Given the description of an element on the screen output the (x, y) to click on. 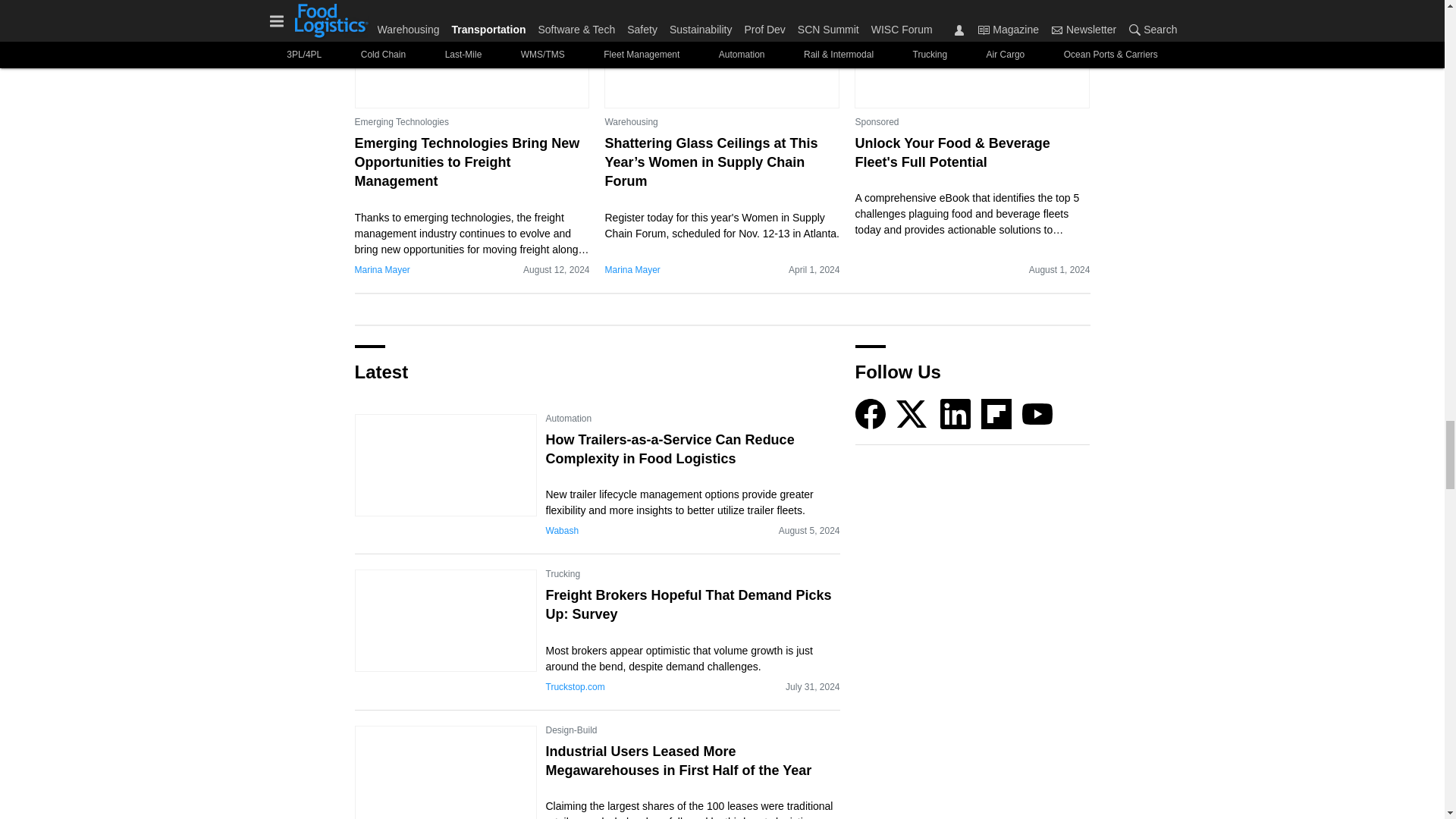
Flipboard icon (996, 413)
Facebook icon (870, 413)
YouTube icon (1037, 413)
Twitter X icon (911, 413)
LinkedIn icon (955, 413)
